Given the description of an element on the screen output the (x, y) to click on. 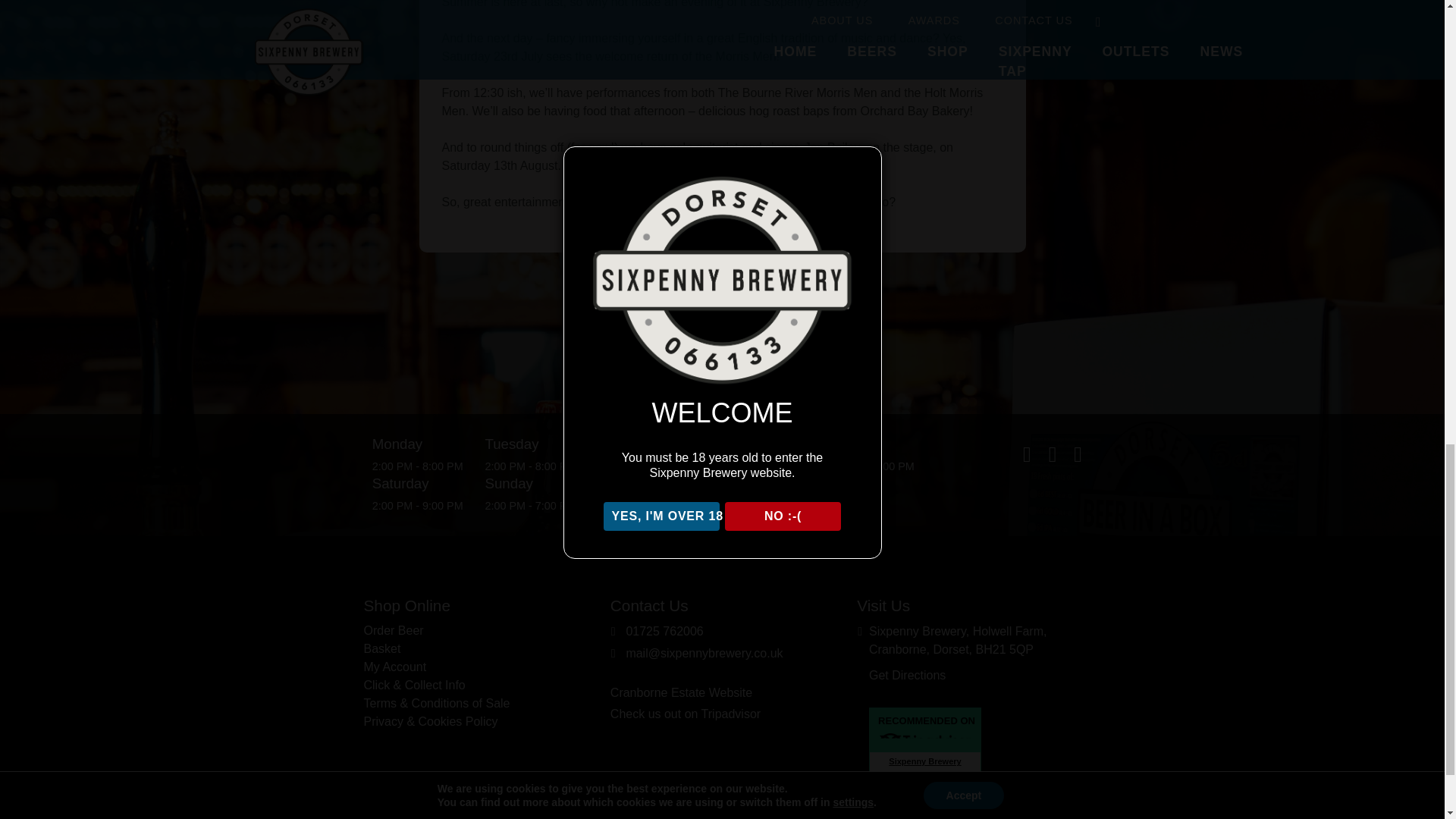
Basket (382, 648)
BACK TO ALL NEWS ARTICLES (721, 305)
BACK TO ALL NEWS ARTICLES (722, 305)
Order Beer (393, 630)
The Bourne River Morris Men (797, 92)
My Account (395, 666)
